Given the description of an element on the screen output the (x, y) to click on. 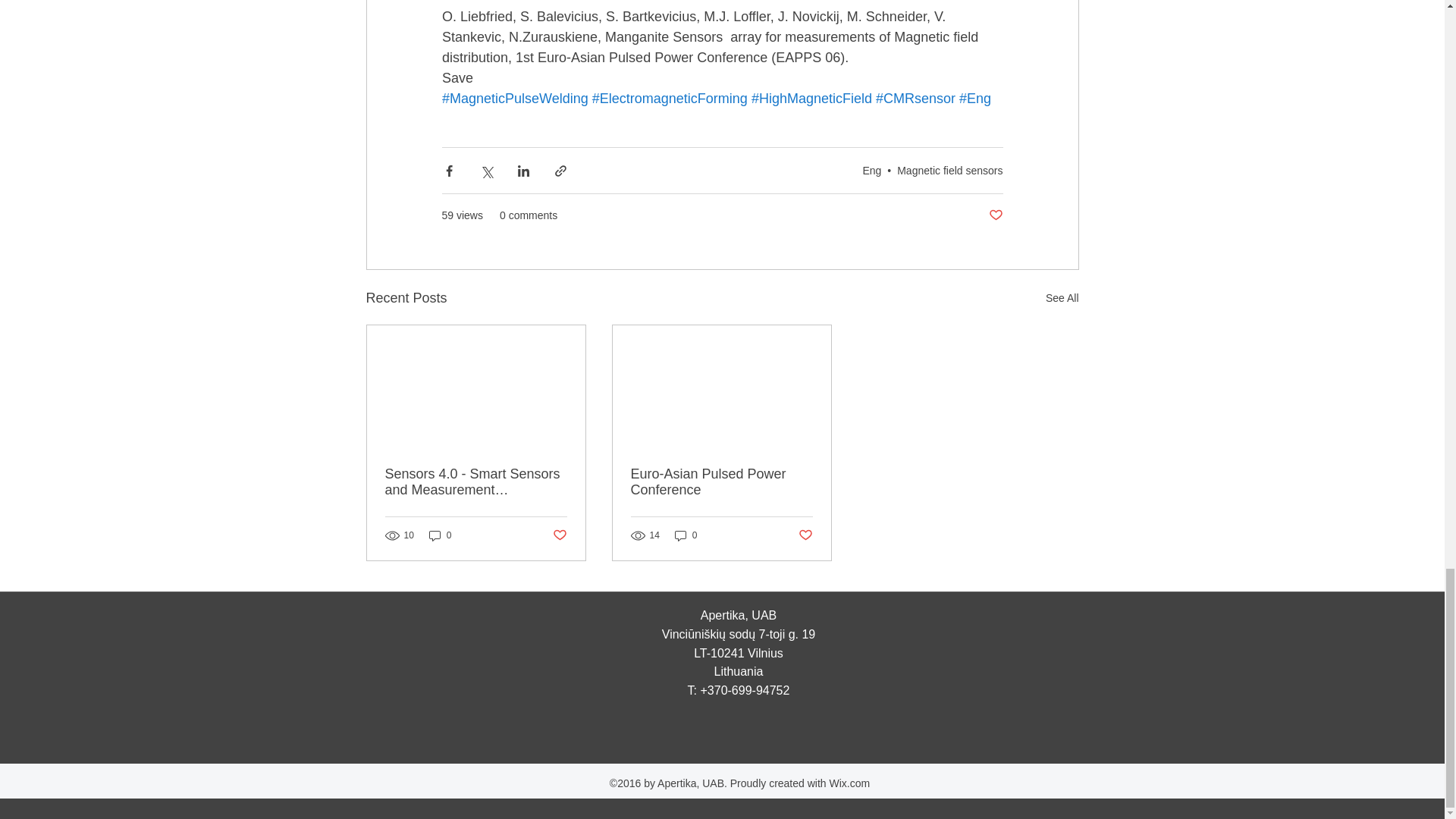
Eng (870, 170)
Post not marked as liked (804, 534)
0 (685, 535)
Magnetic field sensors (949, 170)
Post not marked as liked (995, 215)
See All (1061, 298)
0 (440, 535)
Post not marked as liked (558, 534)
Euro-Asian Pulsed Power Conference (721, 481)
